Given the description of an element on the screen output the (x, y) to click on. 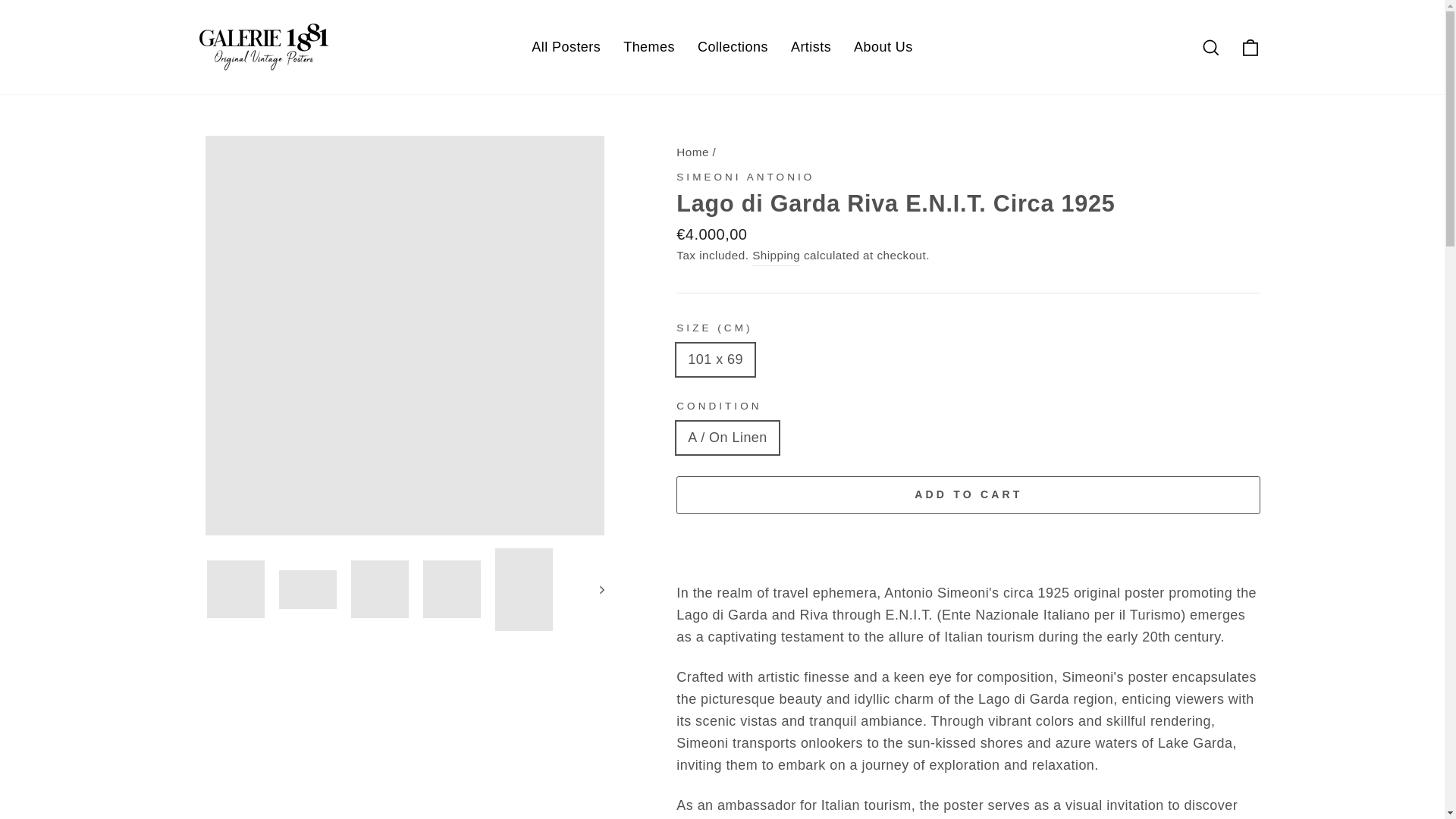
Back to the frontpage (693, 151)
Simeoni Antonio (745, 176)
